Given the description of an element on the screen output the (x, y) to click on. 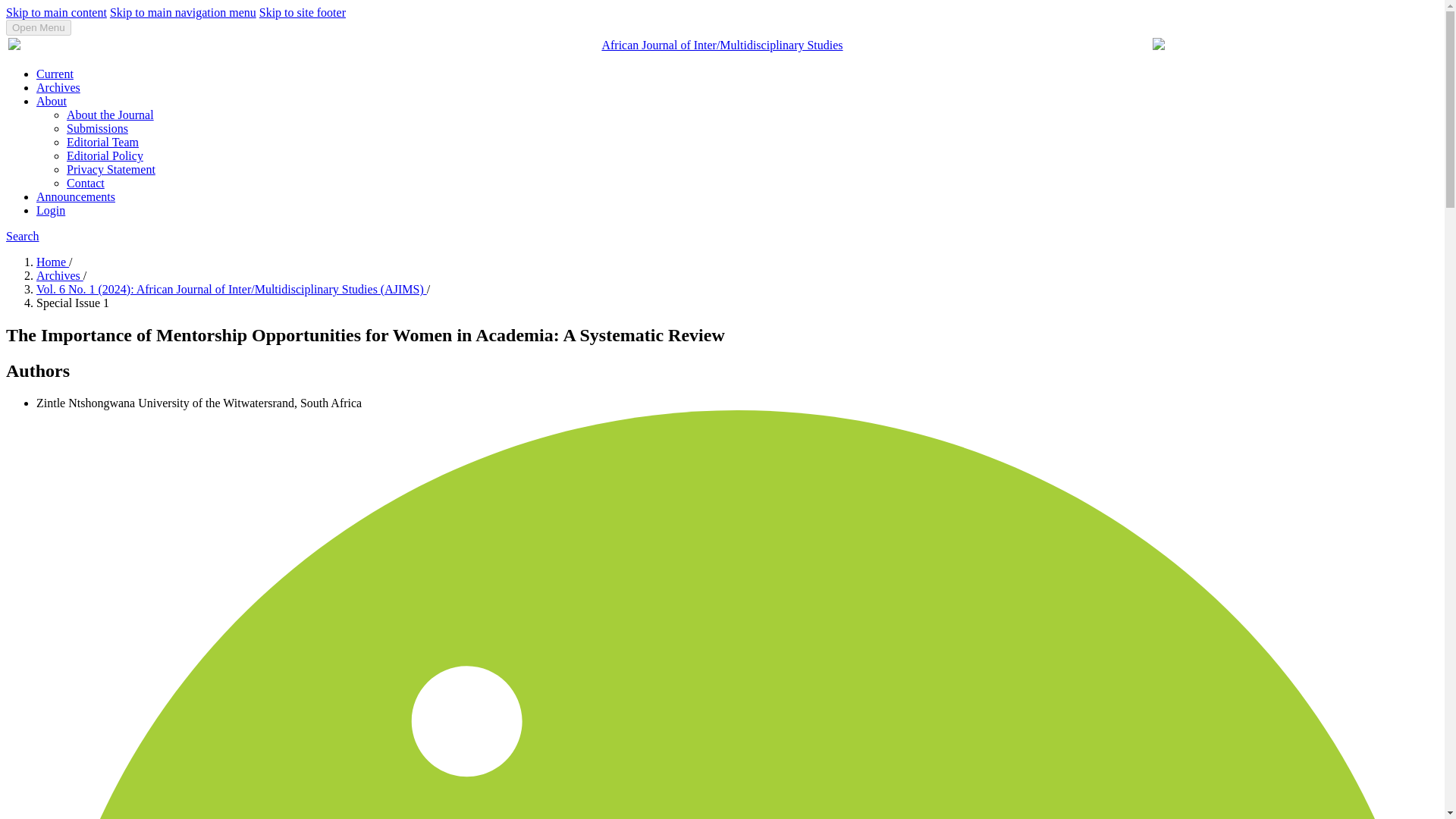
About the Journal (110, 114)
Current (55, 73)
Submissions (97, 128)
Editorial Policy (104, 155)
Search (22, 236)
Skip to main content (55, 11)
About (51, 101)
Archives (59, 275)
Home (52, 261)
Privacy Statement (110, 169)
Announcements (75, 196)
Open Menu (38, 27)
Skip to site footer (302, 11)
Contact (85, 182)
Editorial Team (102, 141)
